Given the description of an element on the screen output the (x, y) to click on. 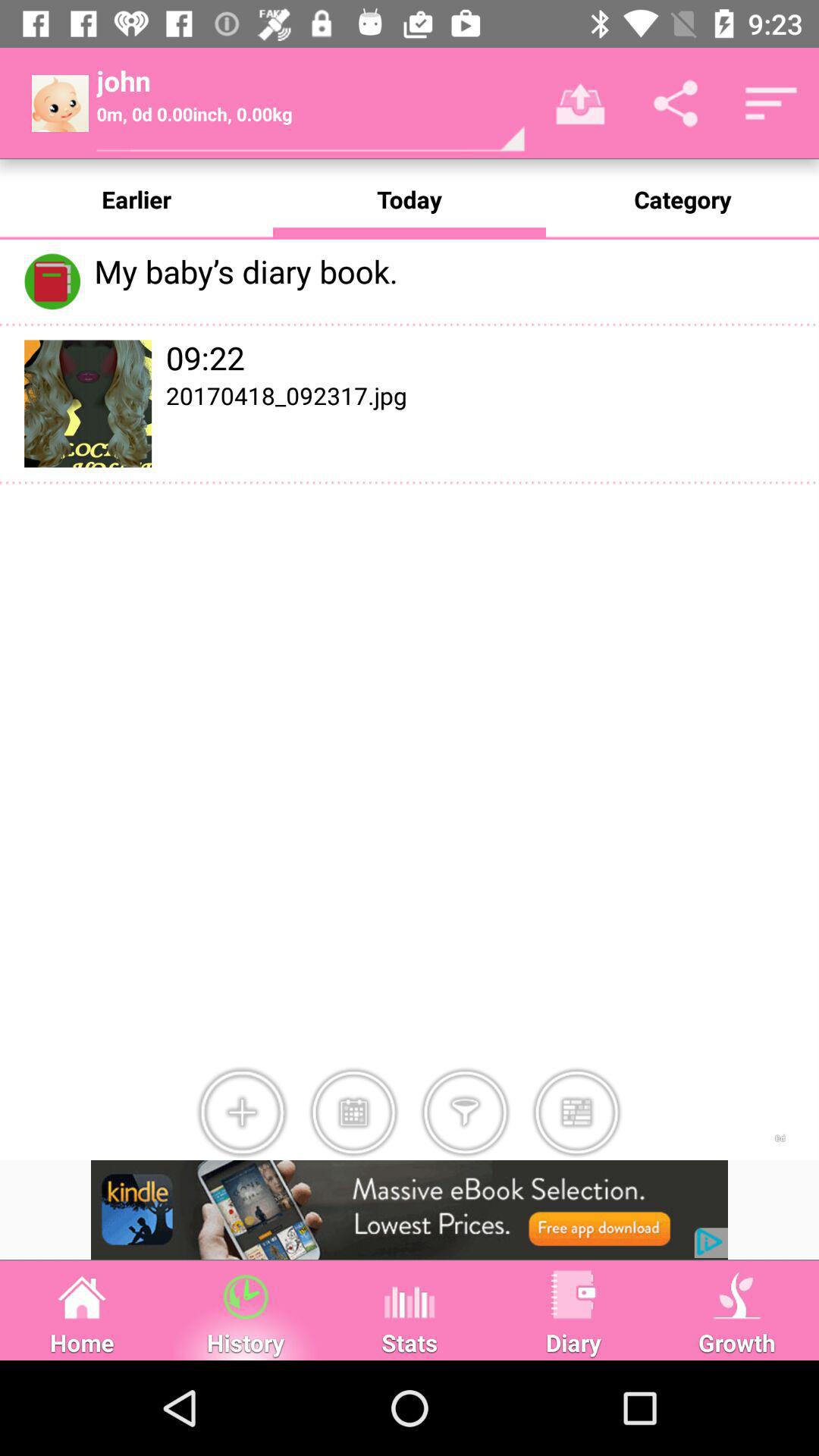
save this (576, 1112)
